Given the description of an element on the screen output the (x, y) to click on. 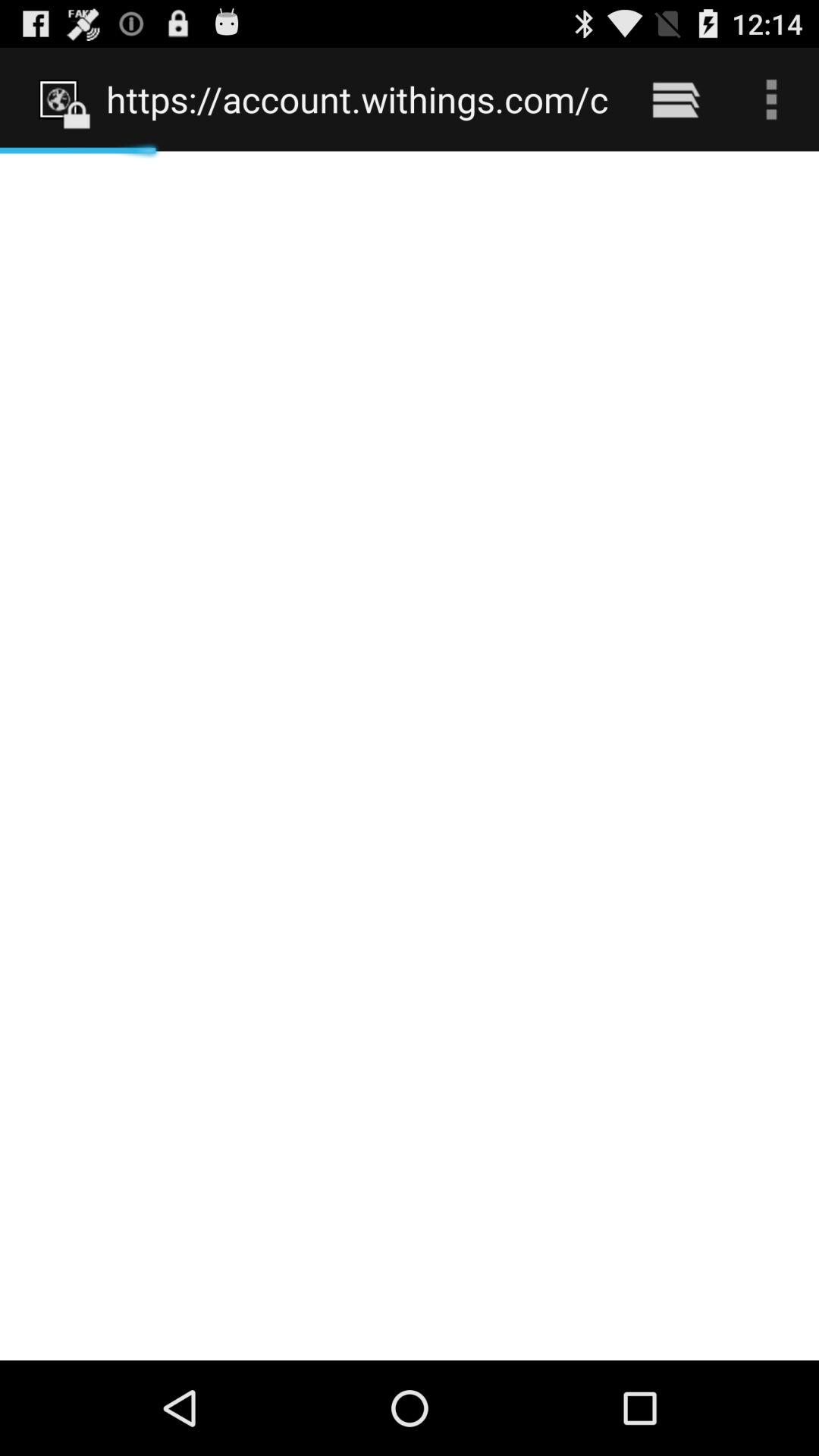
scroll to https account withings icon (357, 99)
